Given the description of an element on the screen output the (x, y) to click on. 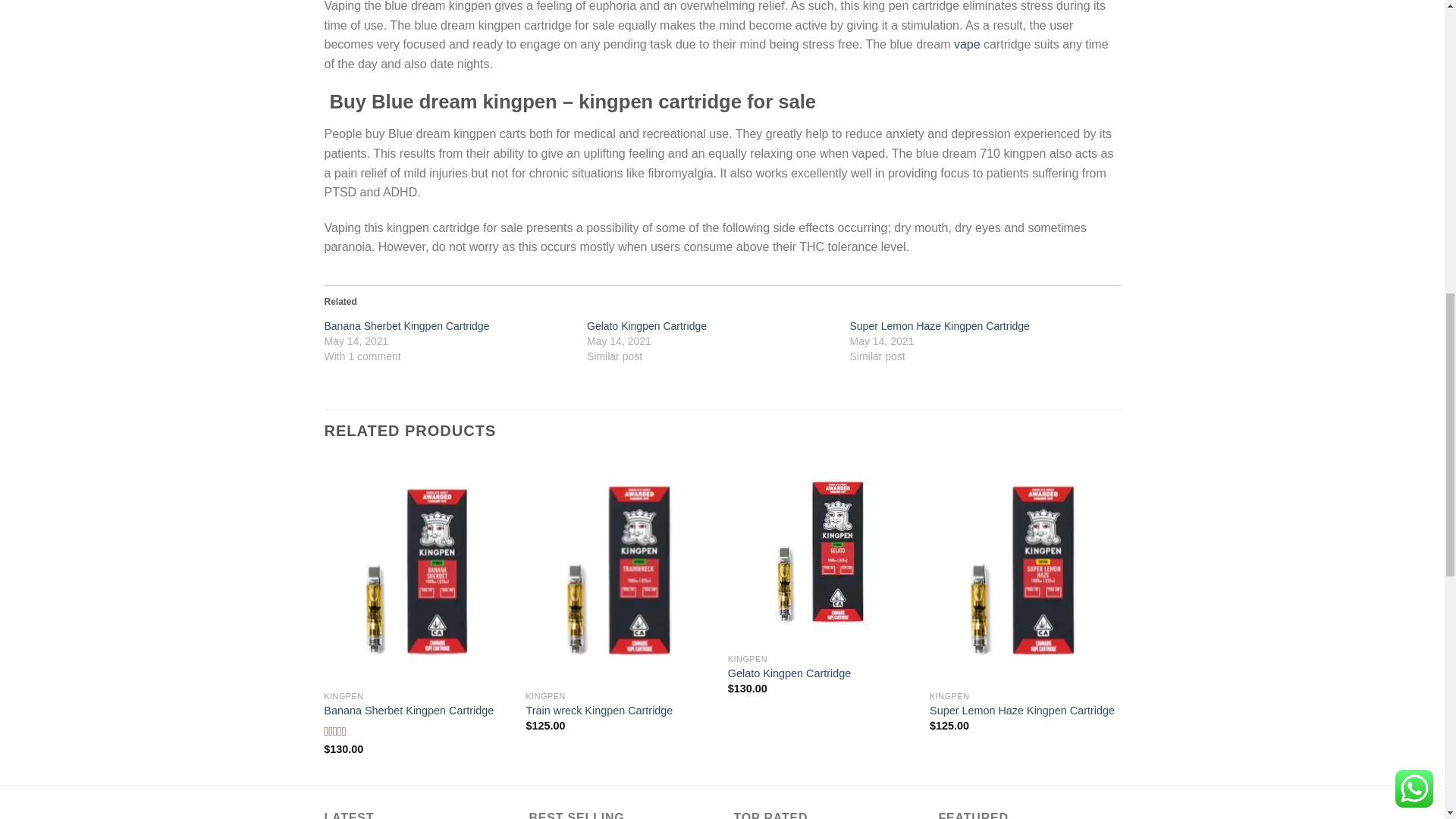
Super Lemon Haze Kingpen Cartridge (938, 326)
Gelato Kingpen Cartridge (646, 326)
Banana Sherbet Kingpen Cartridge (406, 326)
